Given the description of an element on the screen output the (x, y) to click on. 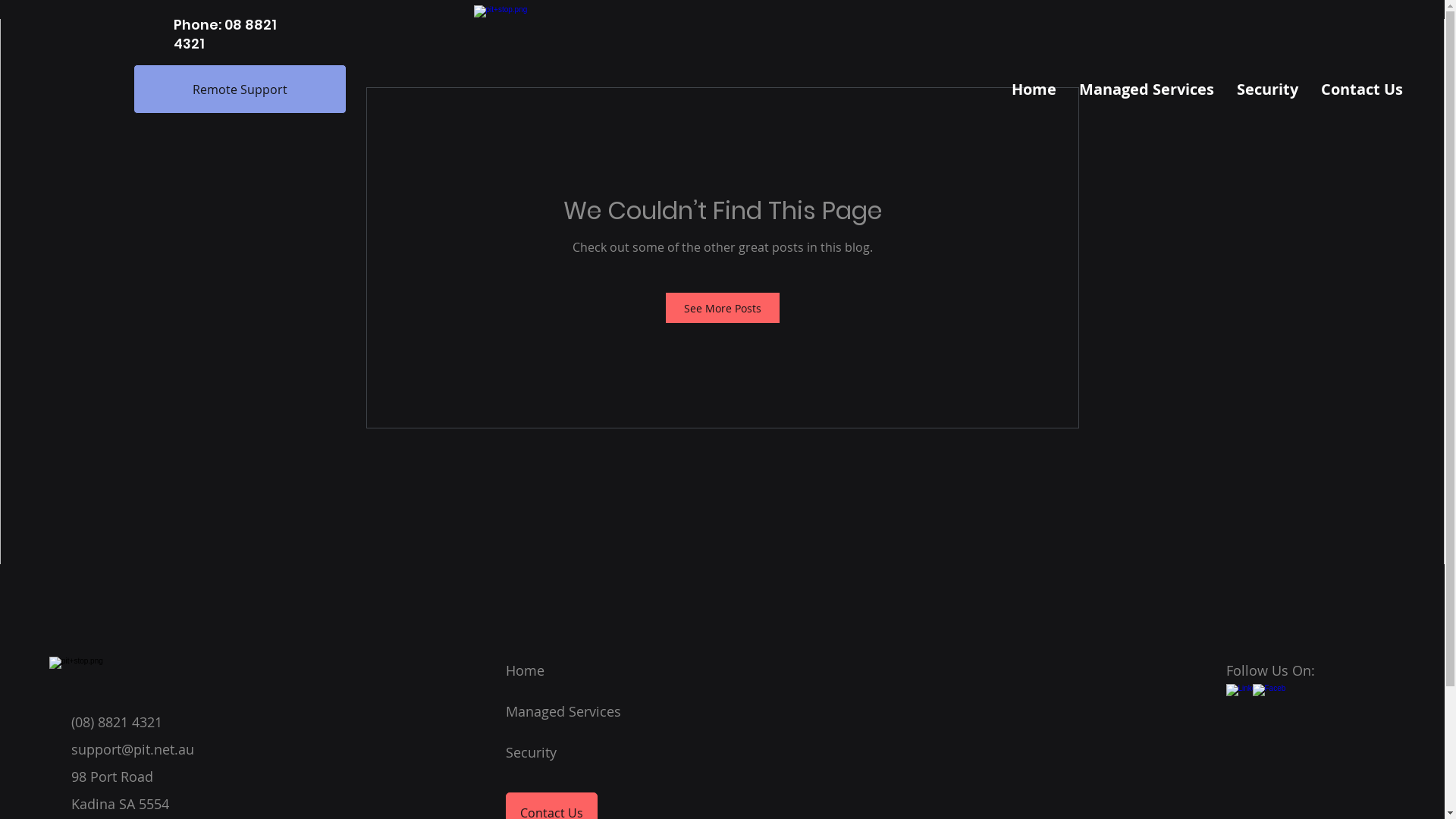
Home Element type: text (1033, 89)
Contact Us Element type: text (1361, 89)
Managed Services Element type: text (1146, 89)
Remote Support Element type: text (239, 88)
See More Posts Element type: text (722, 307)
Security Element type: text (530, 752)
support@pit.net.au Element type: text (132, 749)
Home Element type: text (524, 670)
Managed Services Element type: text (563, 711)
Security Element type: text (1267, 89)
